Given the description of an element on the screen output the (x, y) to click on. 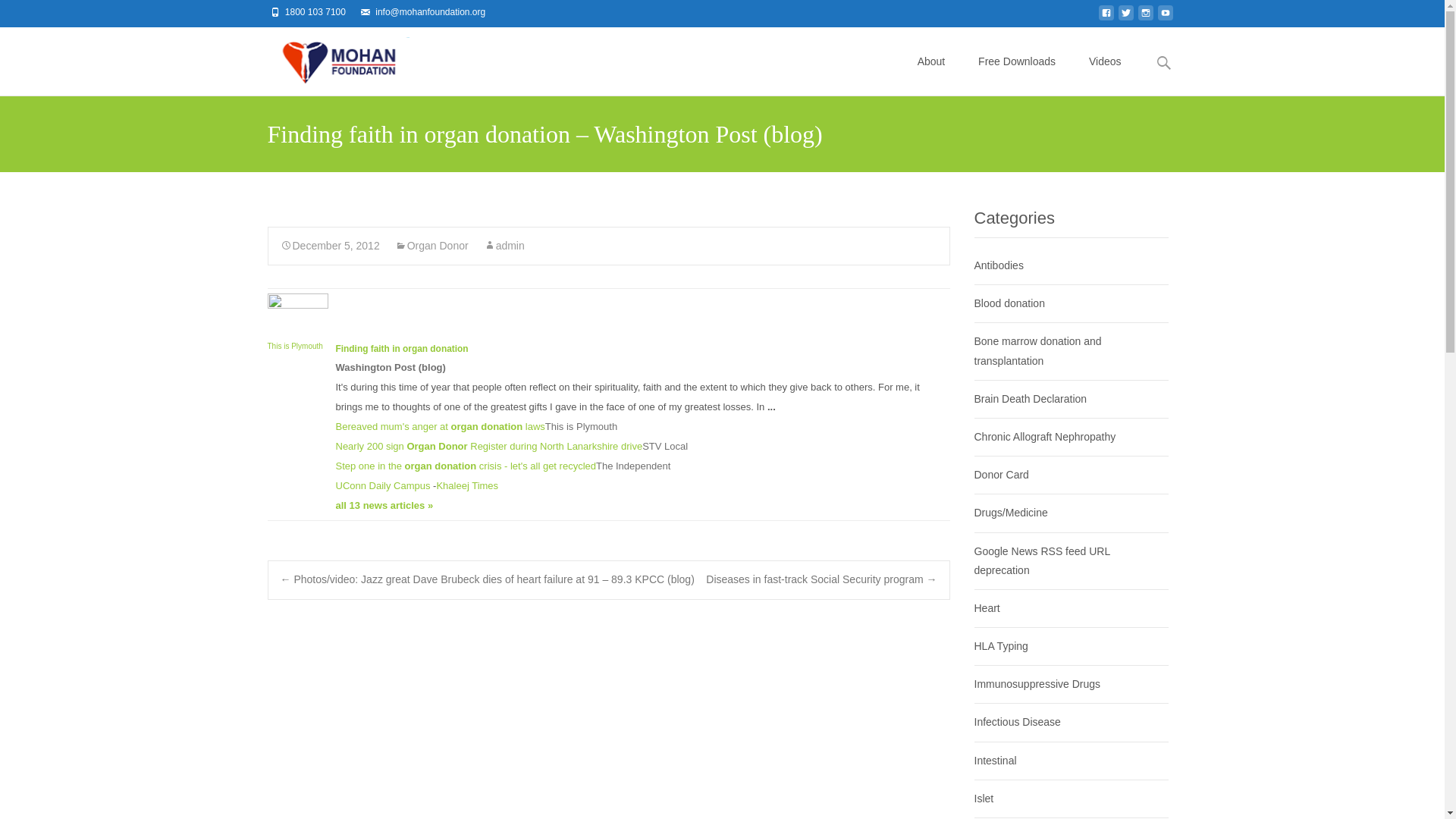
HLA Typing (1000, 645)
admin (503, 245)
Search (18, 14)
UConn Daily Campus (381, 485)
December 5, 2012 (330, 245)
Heart (986, 607)
youtube (1164, 17)
Finding faith in organ donation (400, 348)
Chronic Allograft Nephropathy (1044, 436)
